Given the description of an element on the screen output the (x, y) to click on. 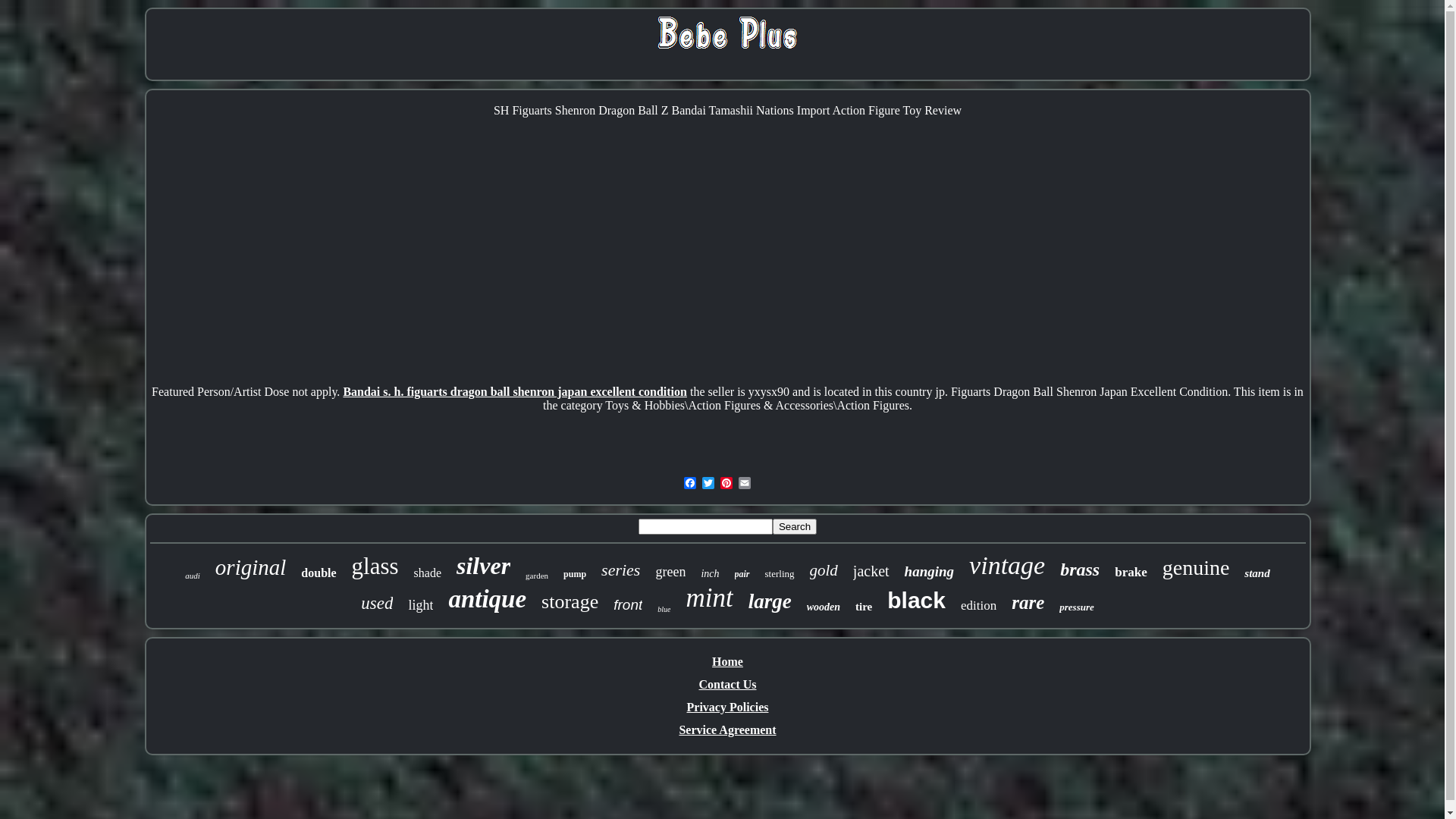
inch Element type: text (709, 573)
green Element type: text (670, 572)
series Element type: text (620, 570)
pressure Element type: text (1076, 607)
shade Element type: text (427, 573)
pump Element type: text (574, 574)
large Element type: text (769, 601)
genuine Element type: text (1196, 567)
double Element type: text (318, 573)
tire Element type: text (863, 606)
pair Element type: text (741, 574)
sterling Element type: text (779, 573)
antique Element type: text (487, 599)
brass Element type: text (1079, 569)
edition Element type: text (978, 605)
stand Element type: text (1256, 573)
hanging Element type: text (928, 571)
jacket Element type: text (871, 571)
gold Element type: text (823, 570)
Search Element type: text (794, 526)
blue Element type: text (663, 609)
mint Element type: text (708, 598)
Service Agreement Element type: text (726, 729)
wooden Element type: text (823, 607)
Privacy Policies Element type: text (727, 706)
audi Element type: text (192, 575)
front Element type: text (627, 604)
brake Element type: text (1130, 572)
light Element type: text (420, 605)
storage Element type: text (569, 601)
garden Element type: text (536, 575)
used Element type: text (376, 603)
glass Element type: text (374, 566)
black Element type: text (916, 600)
Home Element type: text (727, 661)
vintage Element type: text (1006, 565)
original Element type: text (250, 567)
rare Element type: text (1027, 602)
silver Element type: text (483, 566)
Contact Us Element type: text (727, 683)
